Given the description of an element on the screen output the (x, y) to click on. 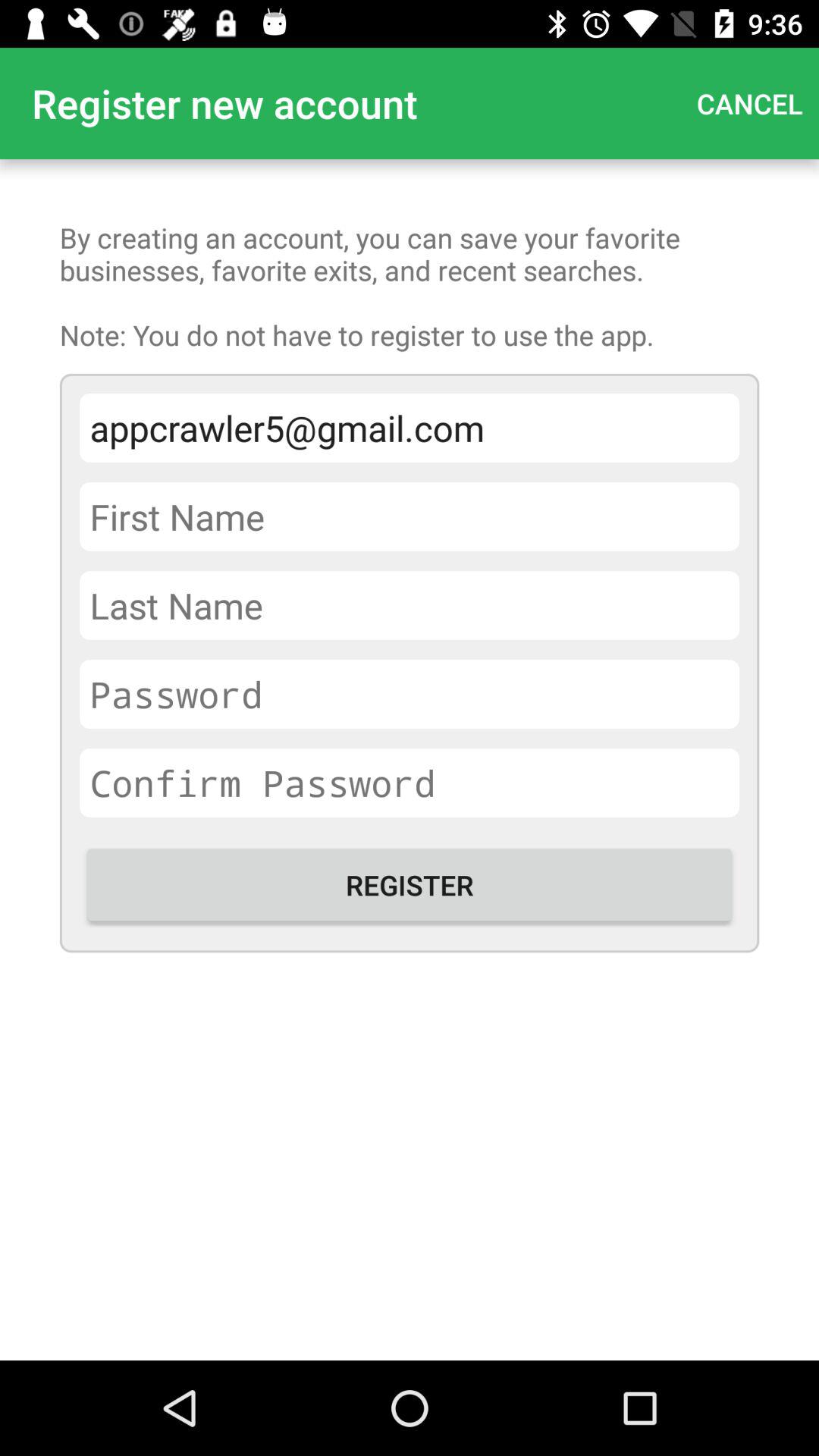
click app to the right of register new account app (749, 103)
